Given the description of an element on the screen output the (x, y) to click on. 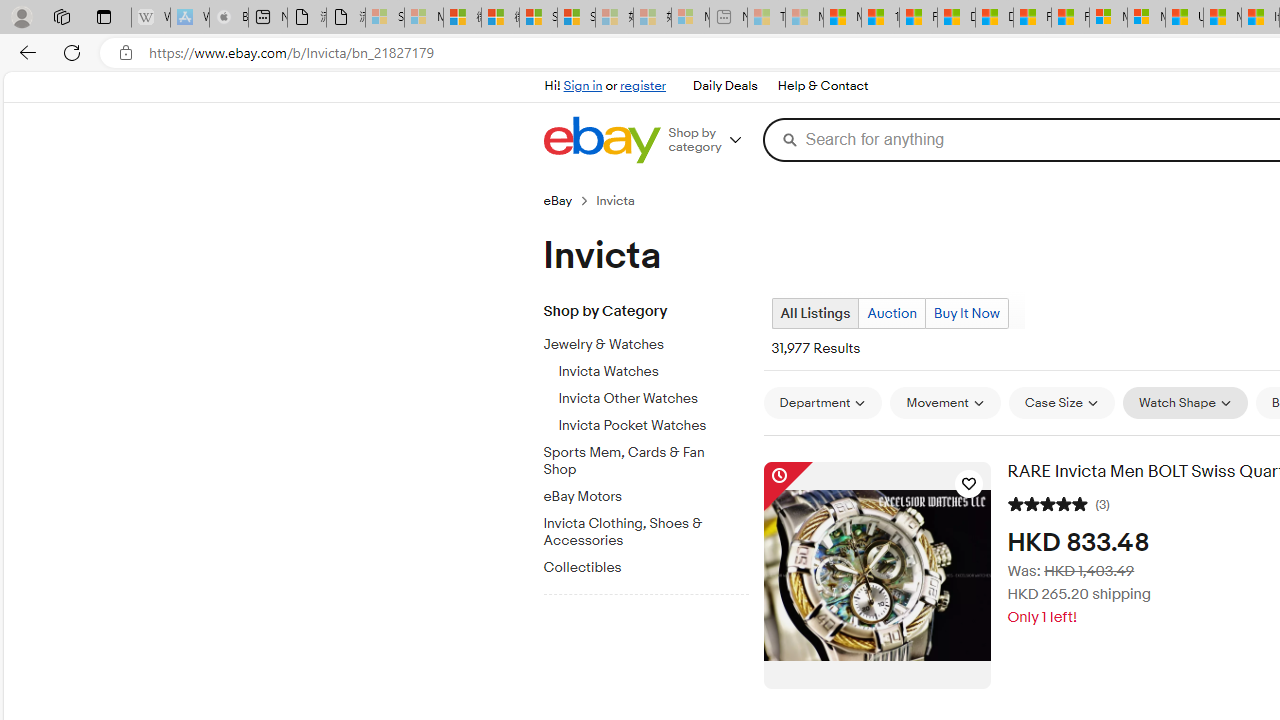
Sign in to your Microsoft account - Sleeping (385, 17)
US Heat Deaths Soared To Record High Last Year (1184, 17)
Auction (891, 313)
5 out of 5 stars (1047, 502)
Marine life - MSN - Sleeping (804, 17)
register (642, 85)
Jewelry & Watches (637, 345)
All Listings Current view (814, 313)
Shop by category (711, 140)
Jewelry & Watches (653, 341)
